Given the description of an element on the screen output the (x, y) to click on. 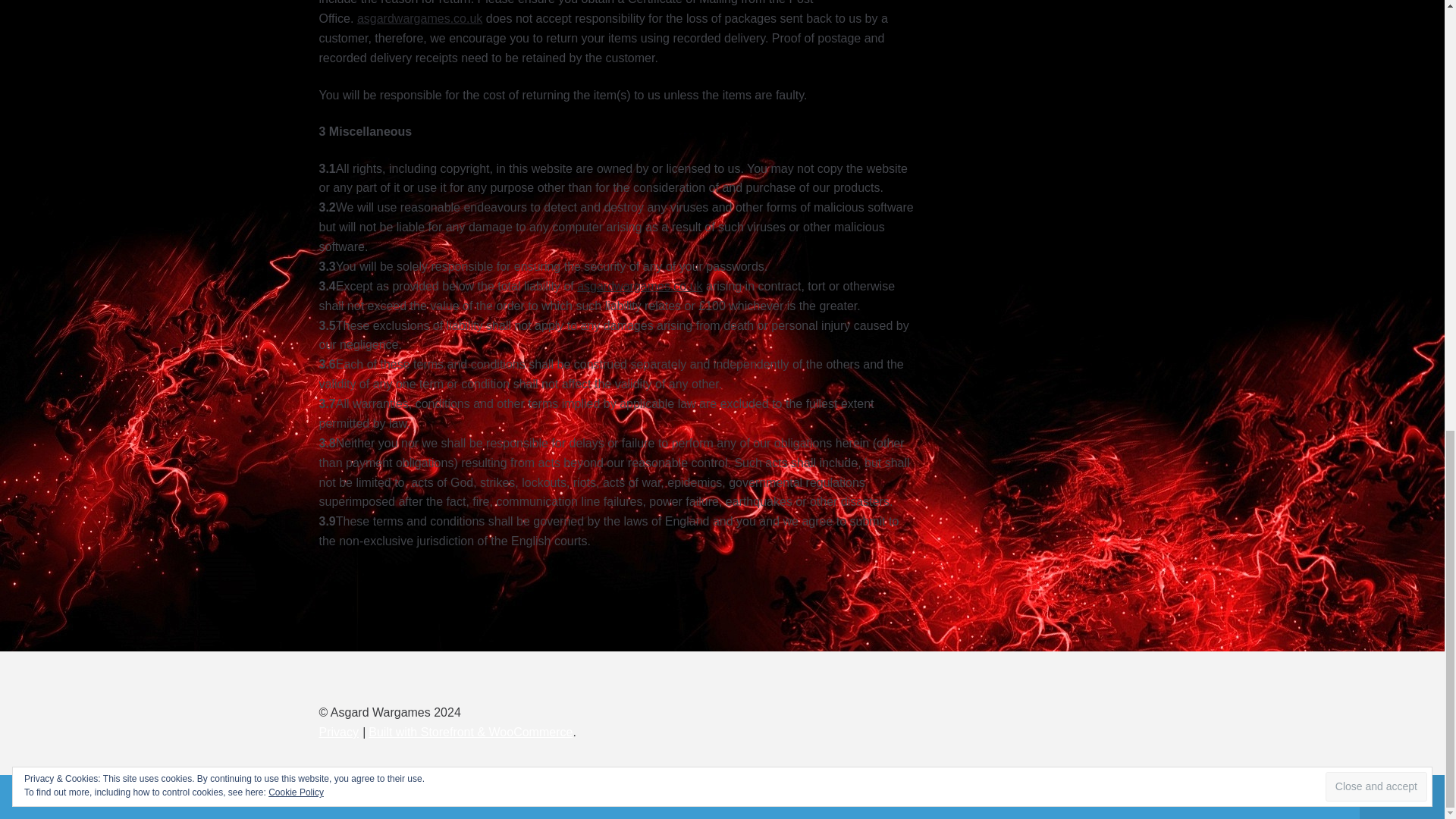
Privacy (338, 731)
asgardwargames.co.uk (638, 286)
WooCommerce - The Best eCommerce Platform for WordPress (470, 731)
asgardwargames.co.uk (418, 18)
